Given the description of an element on the screen output the (x, y) to click on. 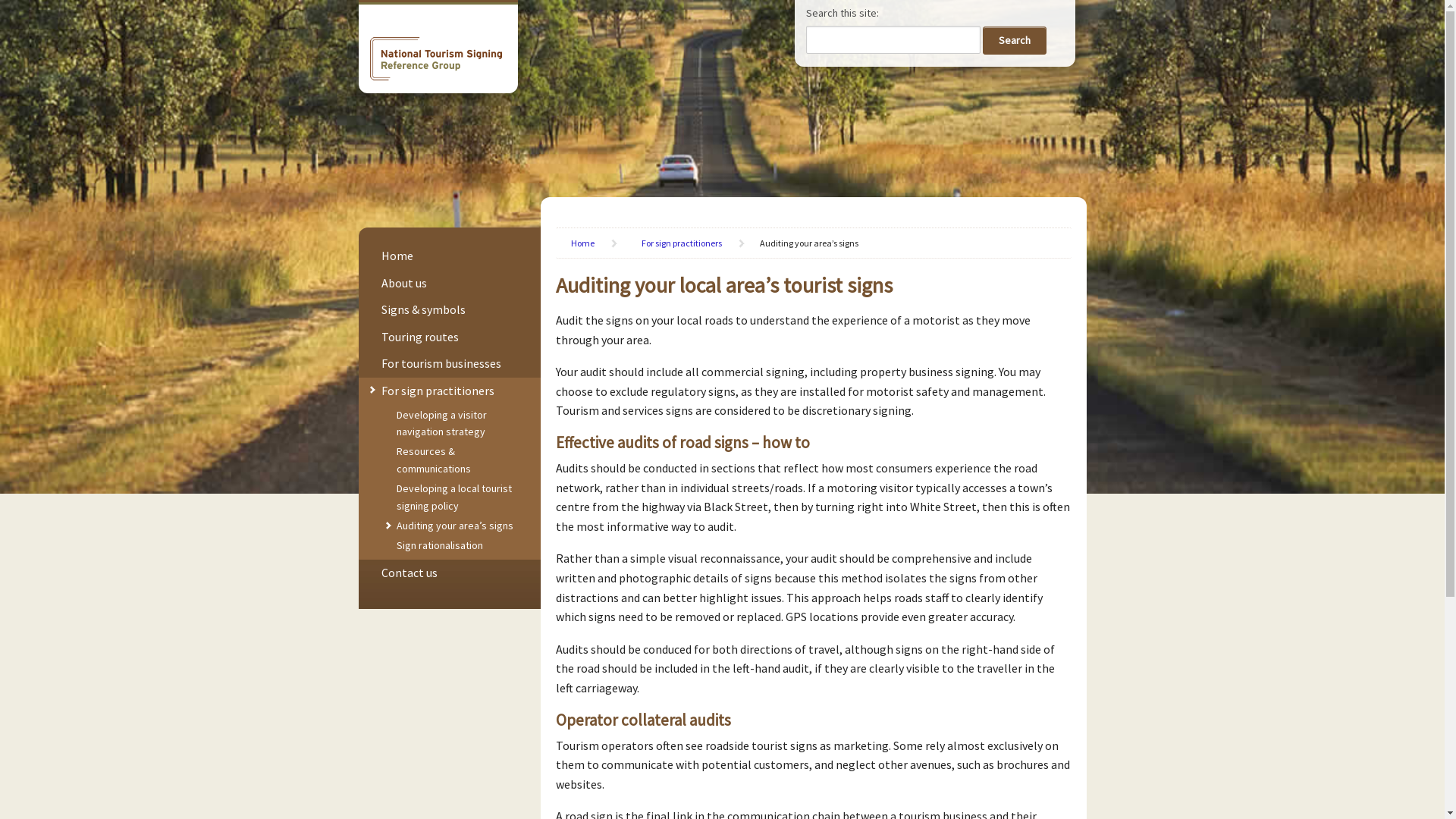
Signs & symbols Element type: text (422, 308)
Sign rationalisation Element type: text (438, 545)
About us Element type: text (403, 282)
Contact us Element type: text (408, 572)
Resources & communications Element type: text (432, 459)
Developing a visitor navigation strategy Element type: text (440, 422)
Developing a local tourist signing policy Element type: text (453, 496)
For tourism businesses Element type: text (440, 362)
Home Element type: text (593, 242)
For sign practitioners Element type: text (436, 390)
Search Element type: text (1014, 39)
Home Element type: text (396, 255)
Touring routes Element type: text (419, 336)
For sign practitioners Element type: text (688, 242)
